Given the description of an element on the screen output the (x, y) to click on. 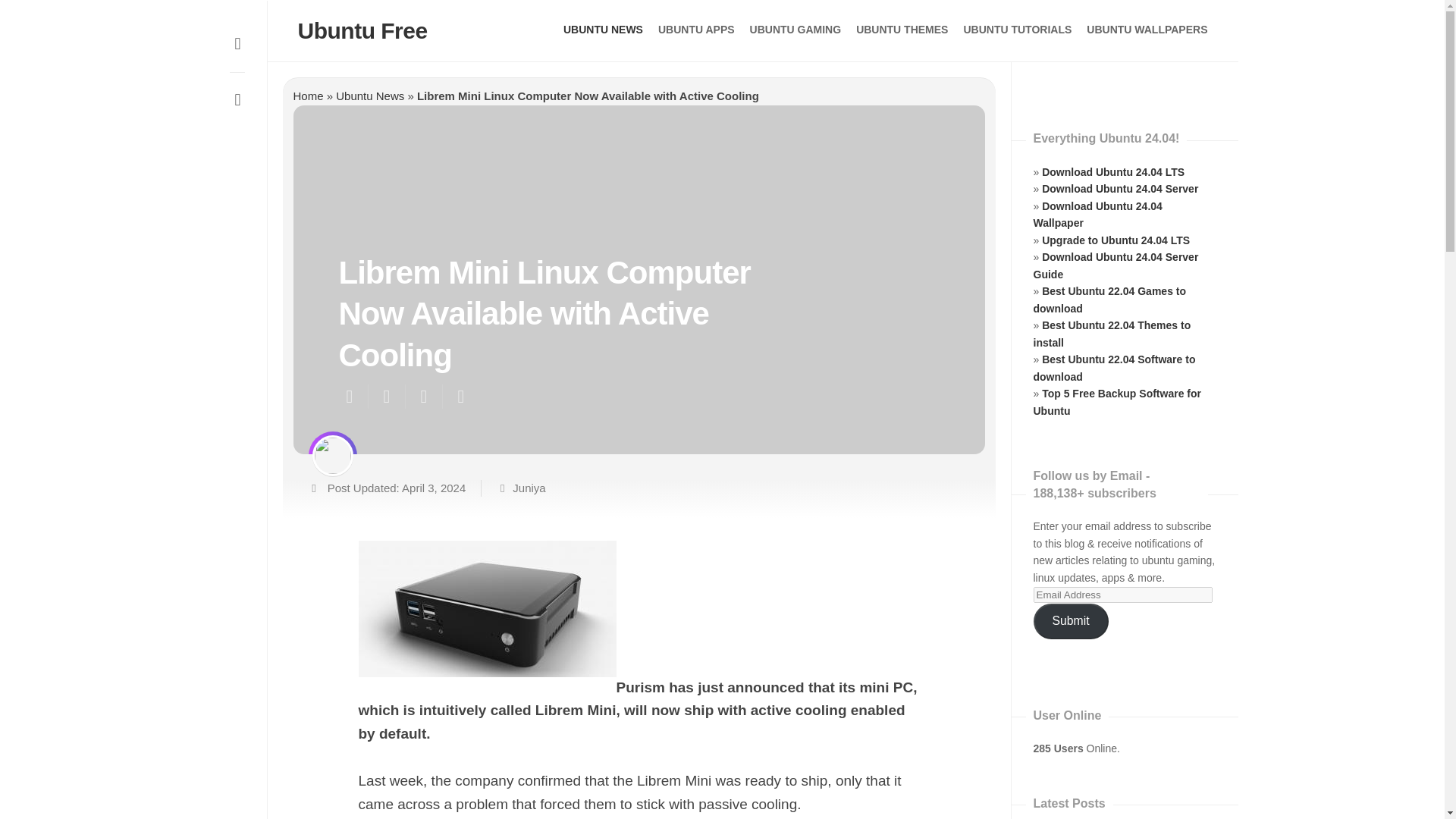
Share on LinkedIn (460, 395)
UBUNTU NEWS (603, 29)
Ubuntu News (370, 95)
Share on Facebook (385, 395)
Juniya (528, 486)
Home (307, 95)
UBUNTU THEMES (901, 29)
UBUNTU APPS (696, 29)
UBUNTU WALLPAPERS (1146, 29)
Ubuntu Free (361, 31)
